Given the description of an element on the screen output the (x, y) to click on. 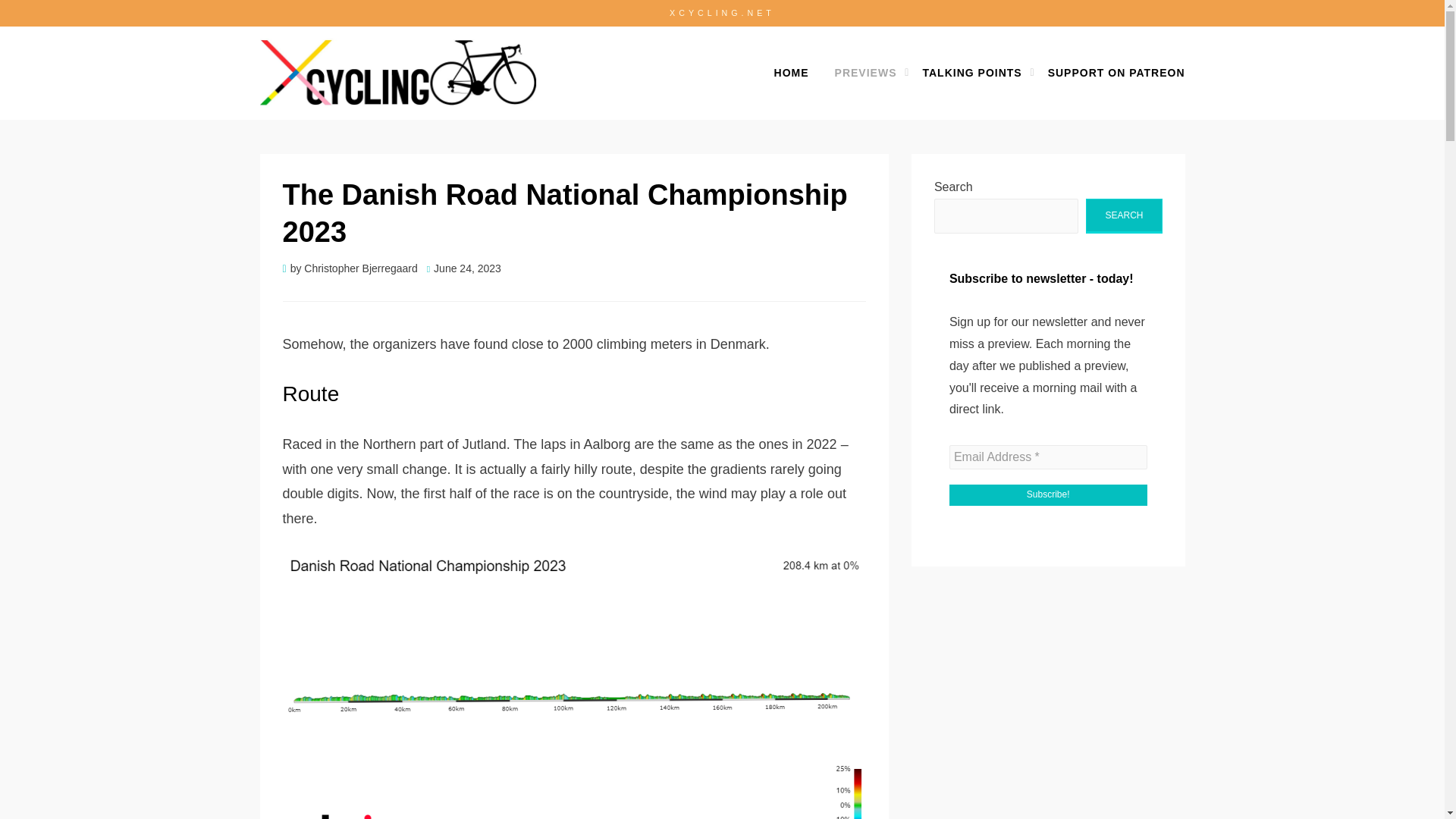
SUPPORT ON PATREON (1110, 72)
TALKING POINTS (970, 72)
June 24, 2023 (463, 268)
SEARCH (1123, 216)
Email Address (1048, 457)
PREVIEWS (866, 72)
Subscribe! (1048, 495)
Christopher Bjerregaard (360, 268)
Subscribe! (1048, 495)
HOME (791, 72)
